Given the description of an element on the screen output the (x, y) to click on. 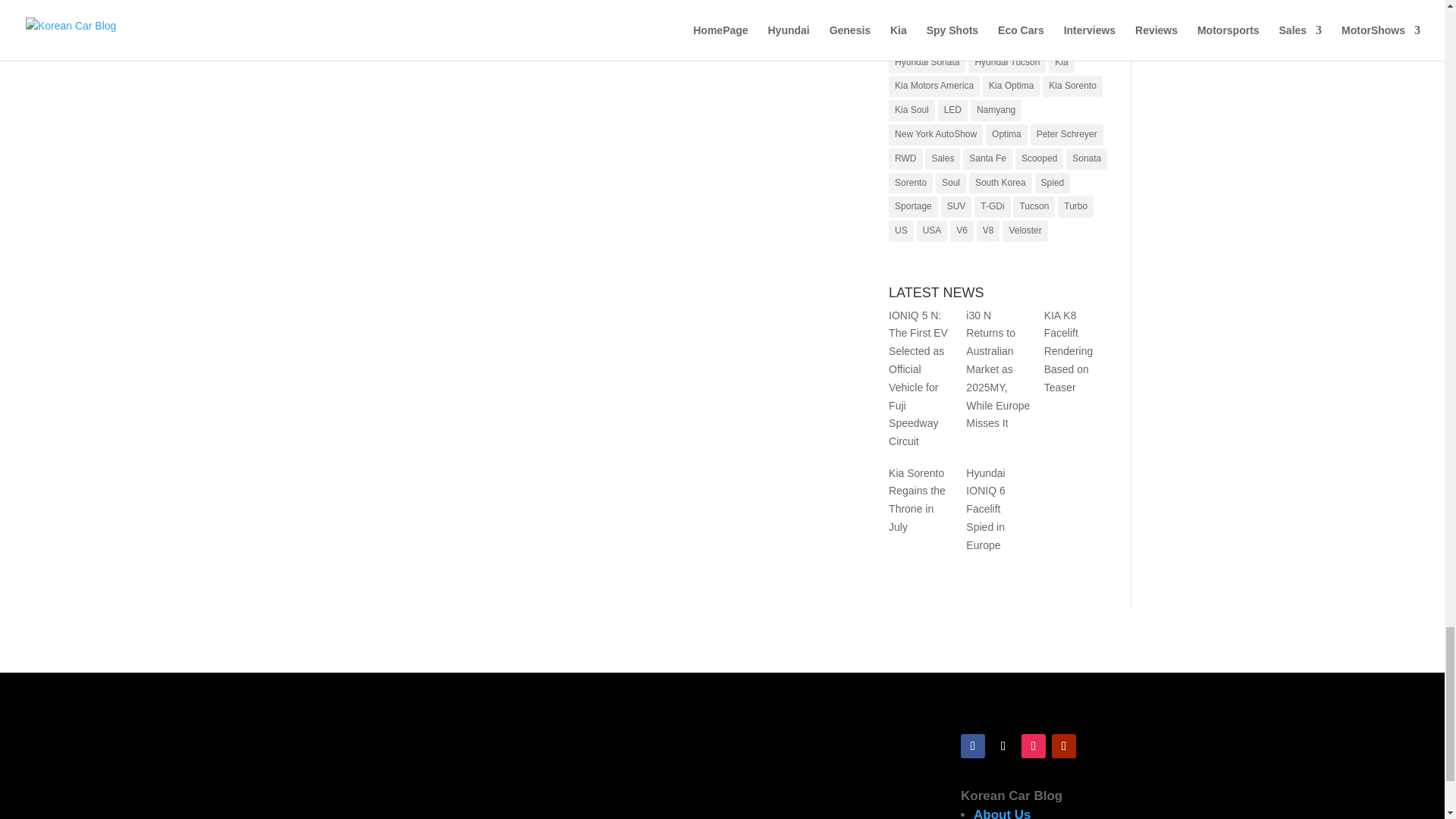
Follow on X (1002, 745)
Follow on Instagram (1033, 745)
Follow on Facebook (972, 745)
